Given the description of an element on the screen output the (x, y) to click on. 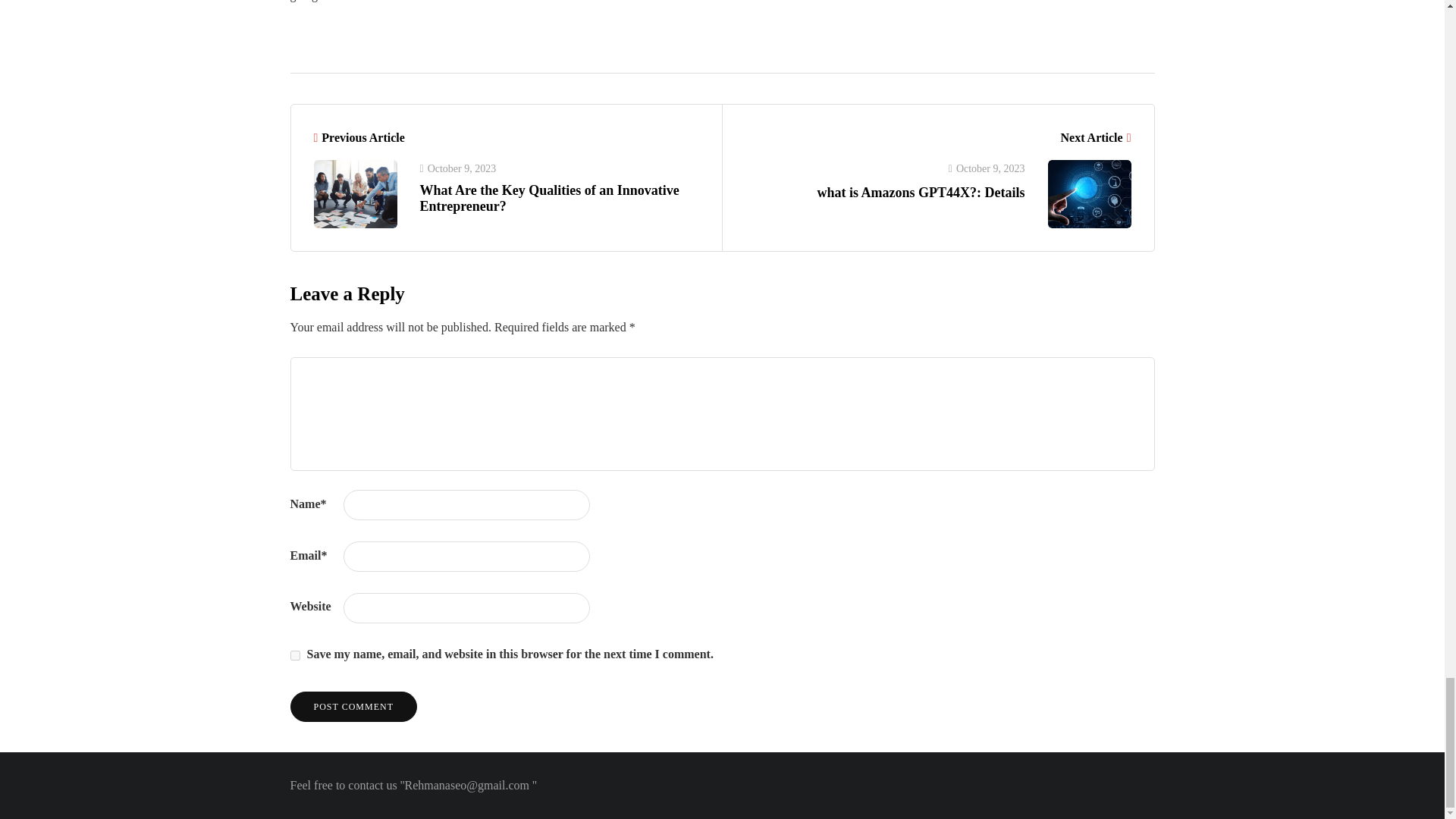
yes (294, 655)
Post comment (352, 706)
